Given the description of an element on the screen output the (x, y) to click on. 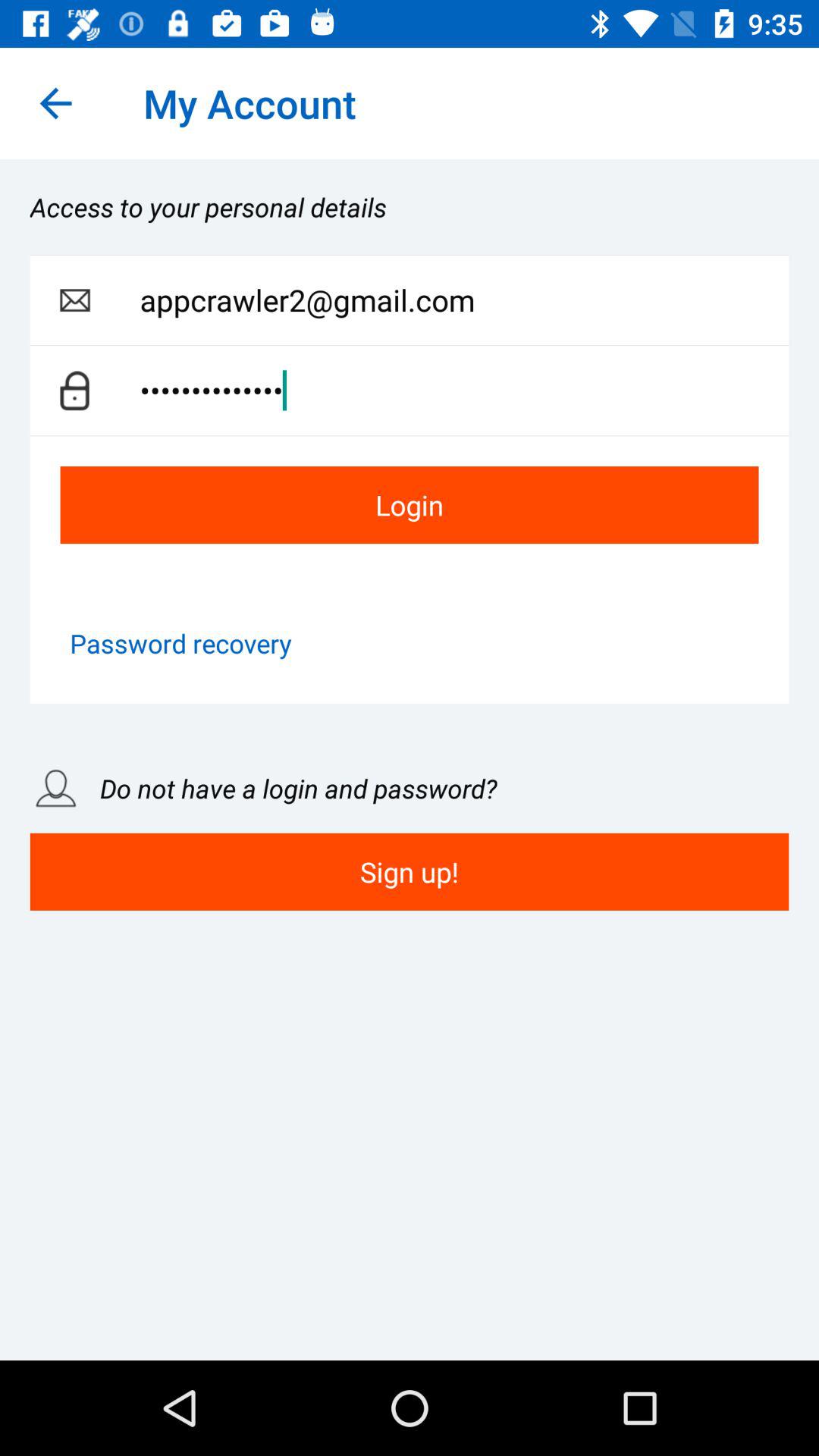
open the appcrawler2@gmail.com icon (463, 300)
